Given the description of an element on the screen output the (x, y) to click on. 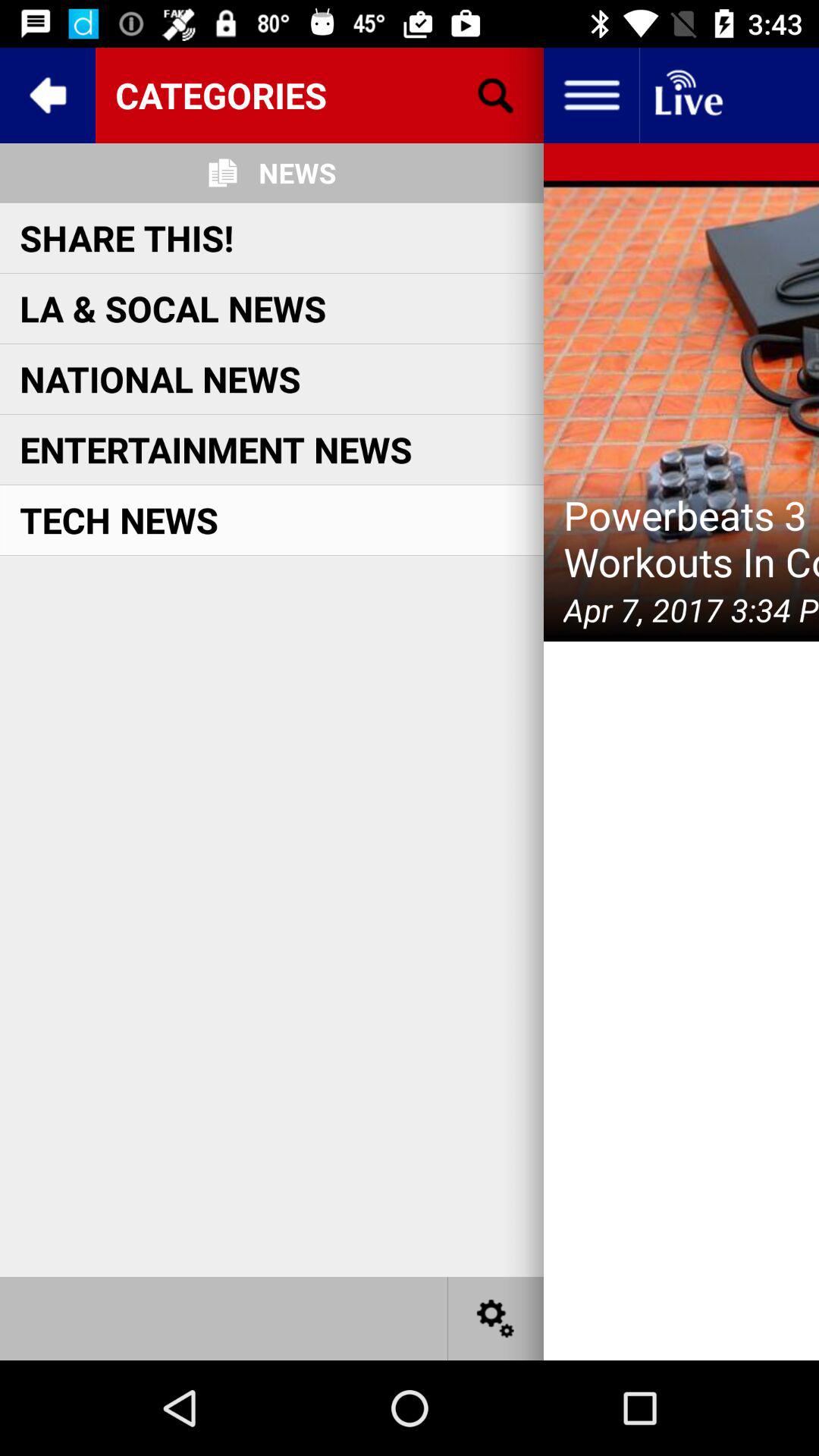
choose icon next to the tech news icon (691, 538)
